Given the description of an element on the screen output the (x, y) to click on. 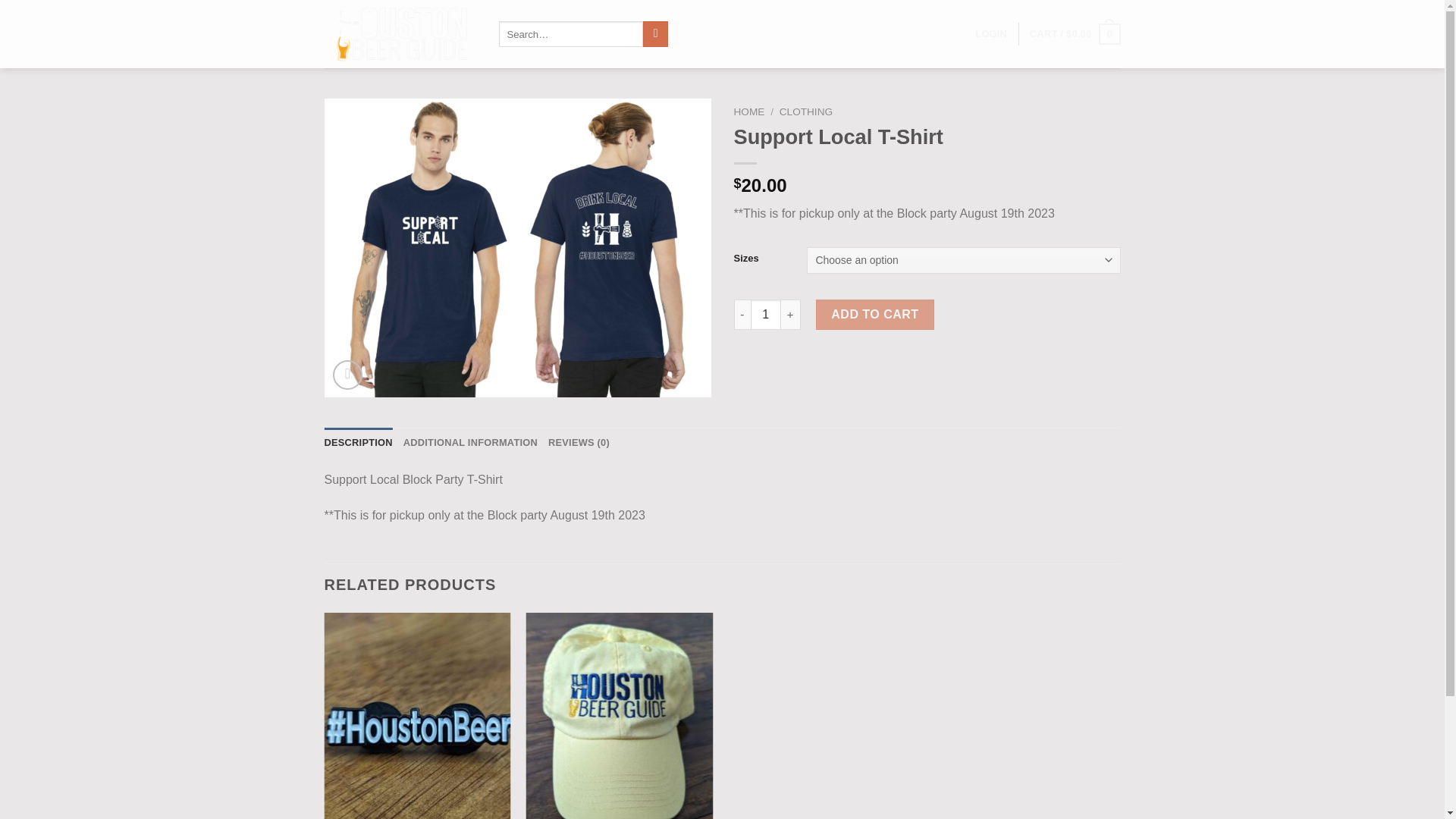
HOME (749, 111)
Houston Beer Guide Shop (400, 34)
Search (655, 33)
ADDITIONAL INFORMATION (470, 442)
CLOTHING (805, 111)
DESCRIPTION (358, 442)
ADD TO CART (874, 314)
1 (765, 314)
LOGIN (991, 33)
2022 Houston Beer Guide T-Shirt (517, 247)
Zoom (347, 374)
Cart (1074, 34)
